Given the description of an element on the screen output the (x, y) to click on. 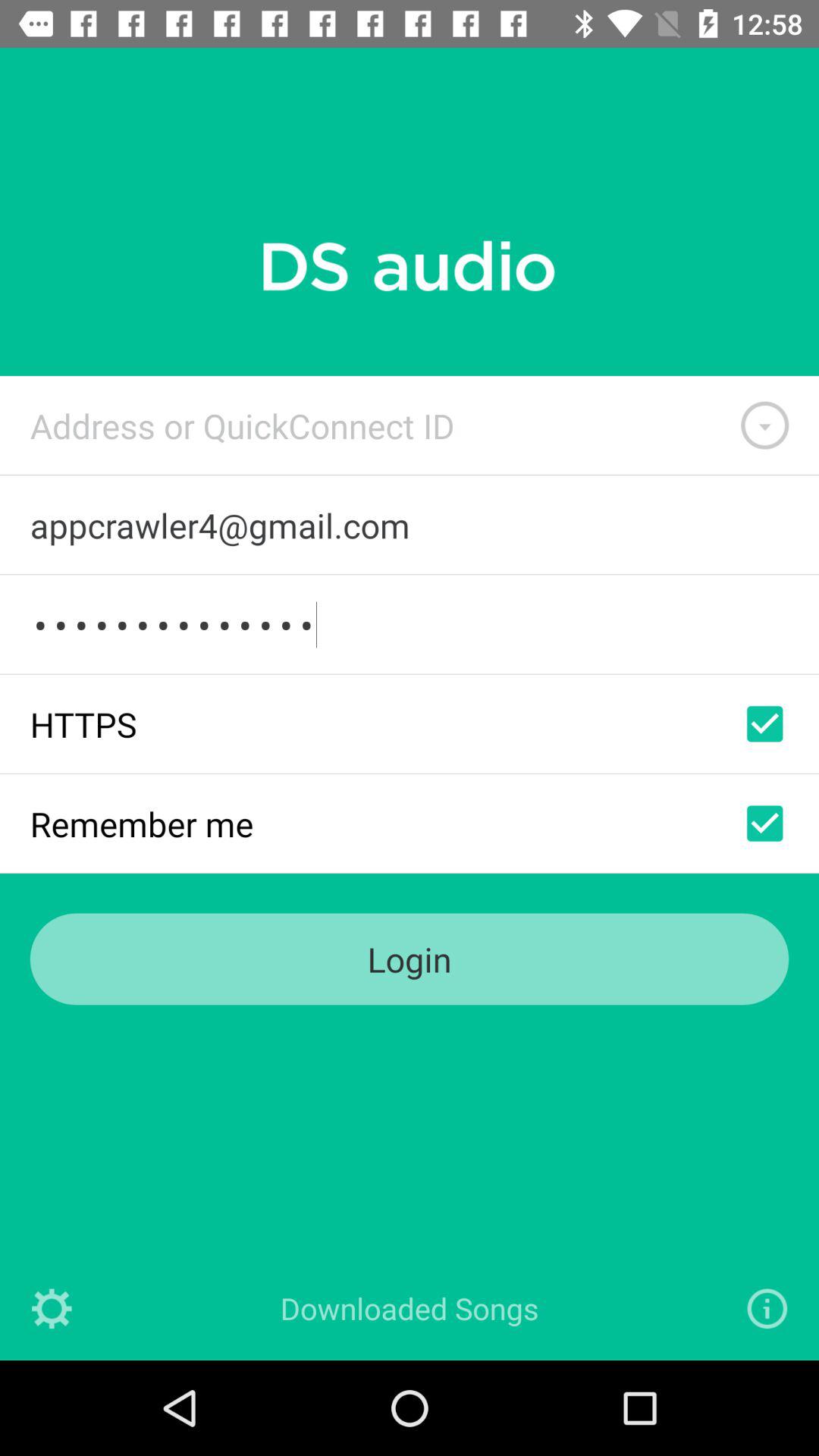
toggle to remember user (764, 823)
